Given the description of an element on the screen output the (x, y) to click on. 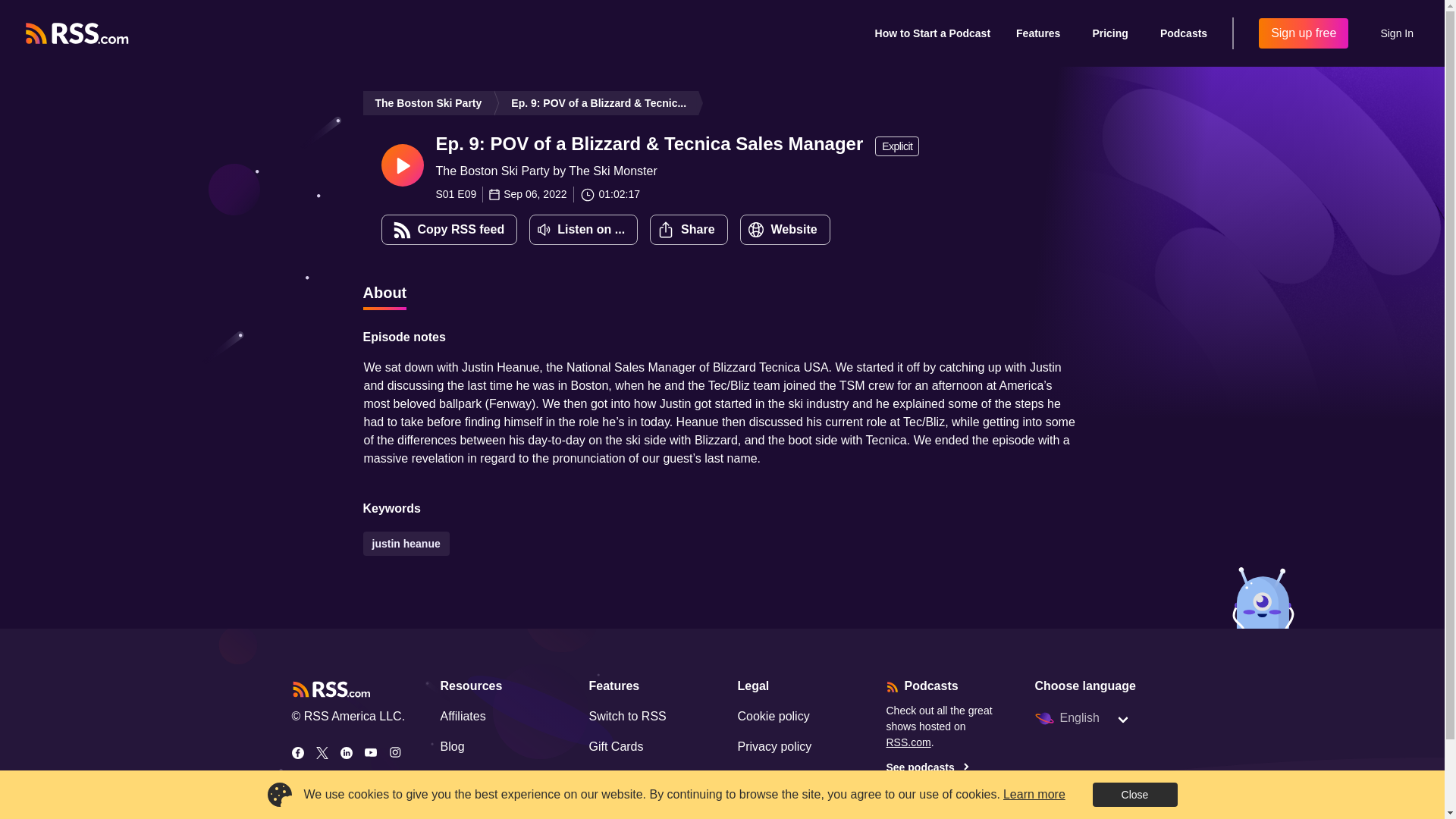
The Boston Ski Party (427, 102)
Podcasts (1183, 33)
See podcasts (944, 767)
Switch to RSS (626, 716)
Copy RSS feed (448, 229)
How to Start a Podcast (933, 33)
Sign up free (1303, 33)
Terms of Service (781, 776)
Cookie policy (772, 716)
Sign In (1397, 33)
